Given the description of an element on the screen output the (x, y) to click on. 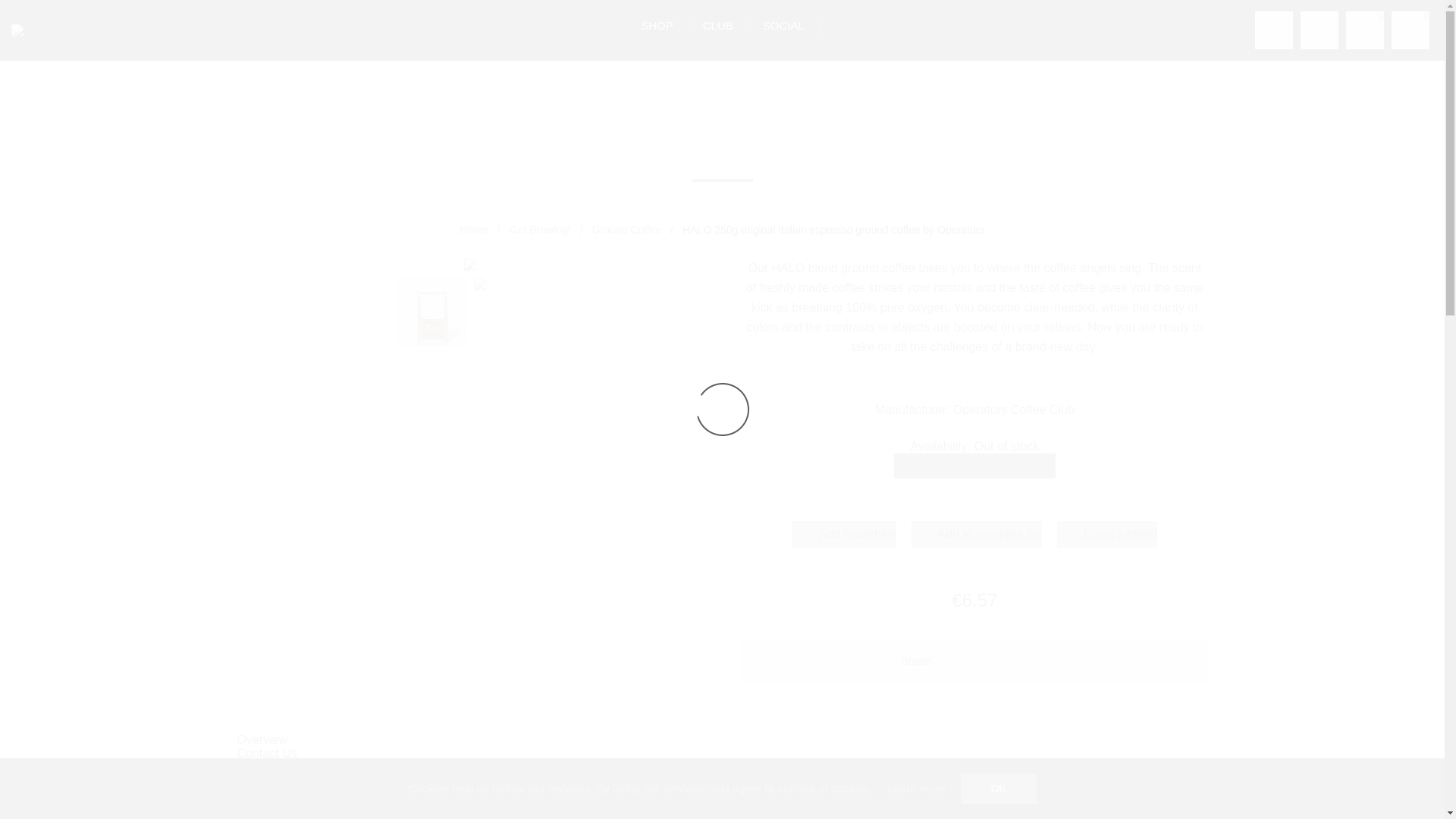
Email a friend (1107, 533)
Add to compare list (976, 533)
SOCIAL (783, 25)
Notify me when available (974, 465)
Add to wishlist (843, 533)
CLUB (717, 25)
Operators Coffee Club (17, 30)
